Given the description of an element on the screen output the (x, y) to click on. 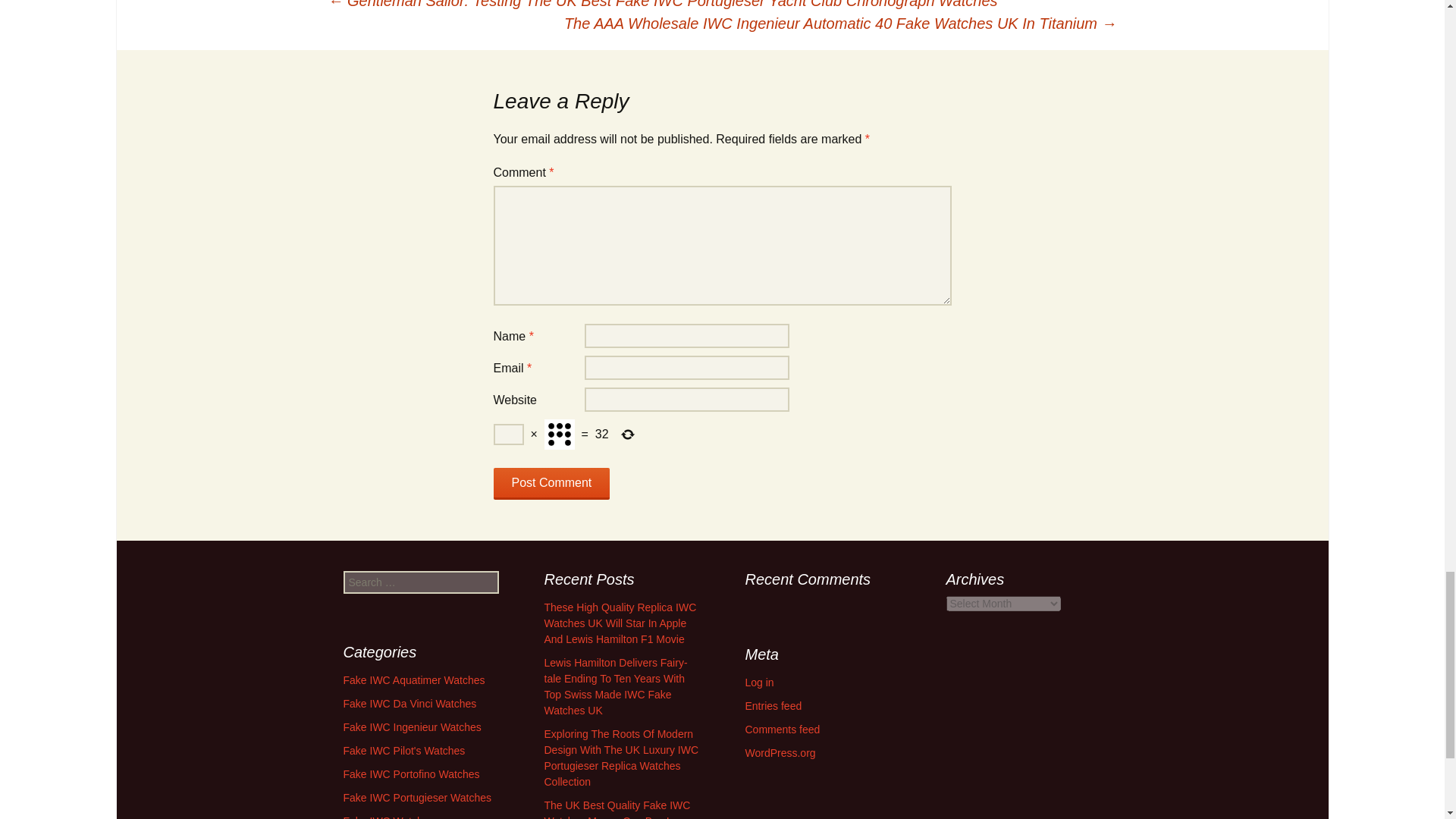
Post Comment (551, 483)
Fake IWC Portofino Watches (410, 774)
Post Comment (551, 483)
Log in (758, 682)
Entries feed (773, 705)
Fake IWC Watches (387, 816)
The UK Best Quality Fake IWC Watches Money Can Buy In 2024 (617, 809)
Fake IWC Ingenieur Watches (411, 727)
Fake IWC Portugieser Watches (417, 797)
Fake IWC Pilot's Watches (403, 750)
Fake IWC Da Vinci Watches (409, 703)
Fake IWC Aquatimer Watches (413, 680)
